Given the description of an element on the screen output the (x, y) to click on. 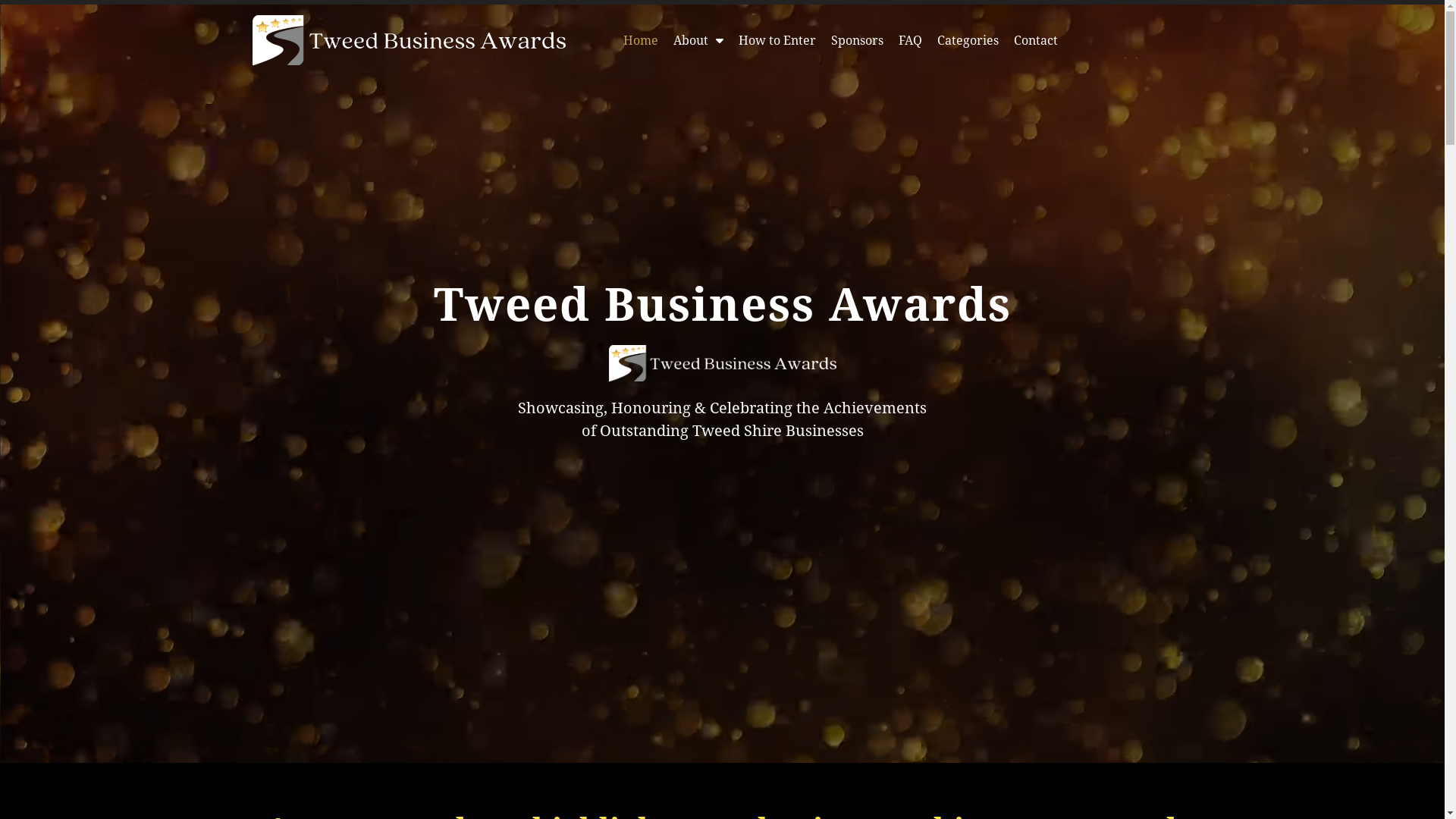
Categories Element type: text (967, 39)
Sponsors Element type: text (857, 39)
Home Element type: text (640, 39)
About Element type: text (698, 39)
How to Enter Element type: text (776, 39)
FAQ Element type: text (910, 39)
Contact Element type: text (1035, 39)
